Given the description of an element on the screen output the (x, y) to click on. 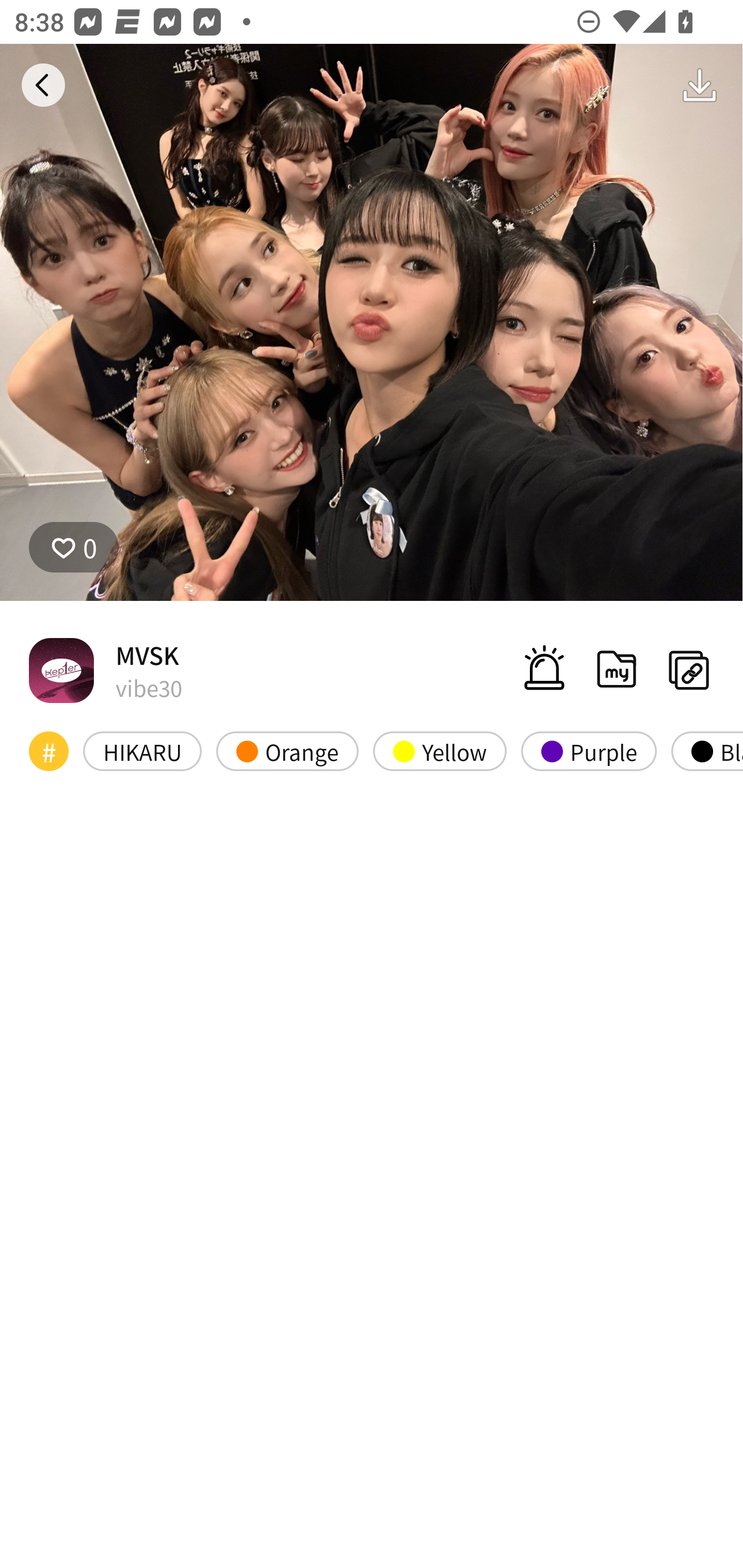
0 (371, 322)
0 (73, 547)
MVSK vibe30 (105, 670)
HIKARU (142, 750)
Orange (287, 750)
Yellow (439, 750)
Purple (588, 750)
